Given the description of an element on the screen output the (x, y) to click on. 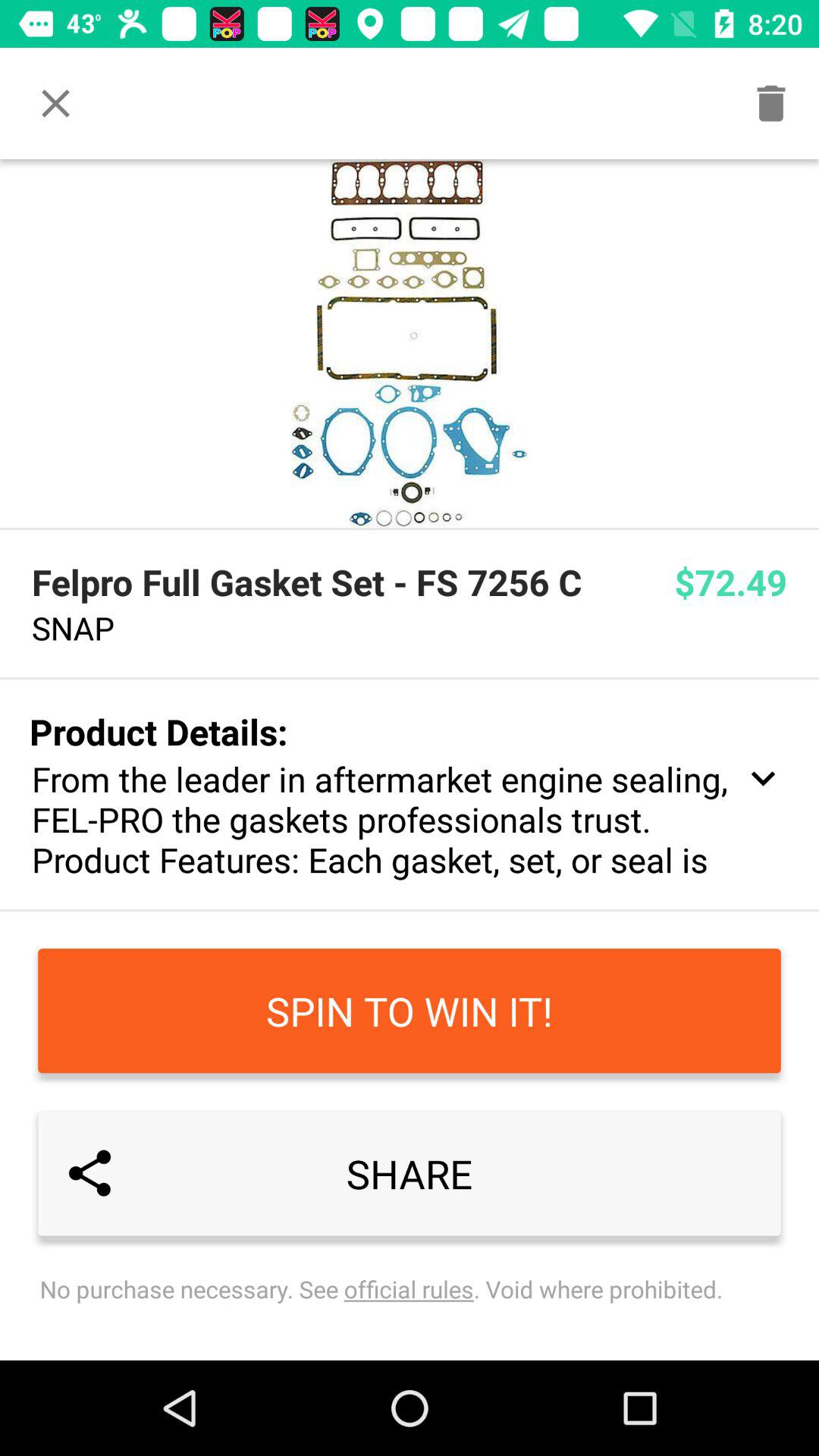
tap the icon at the top right corner (771, 103)
